Given the description of an element on the screen output the (x, y) to click on. 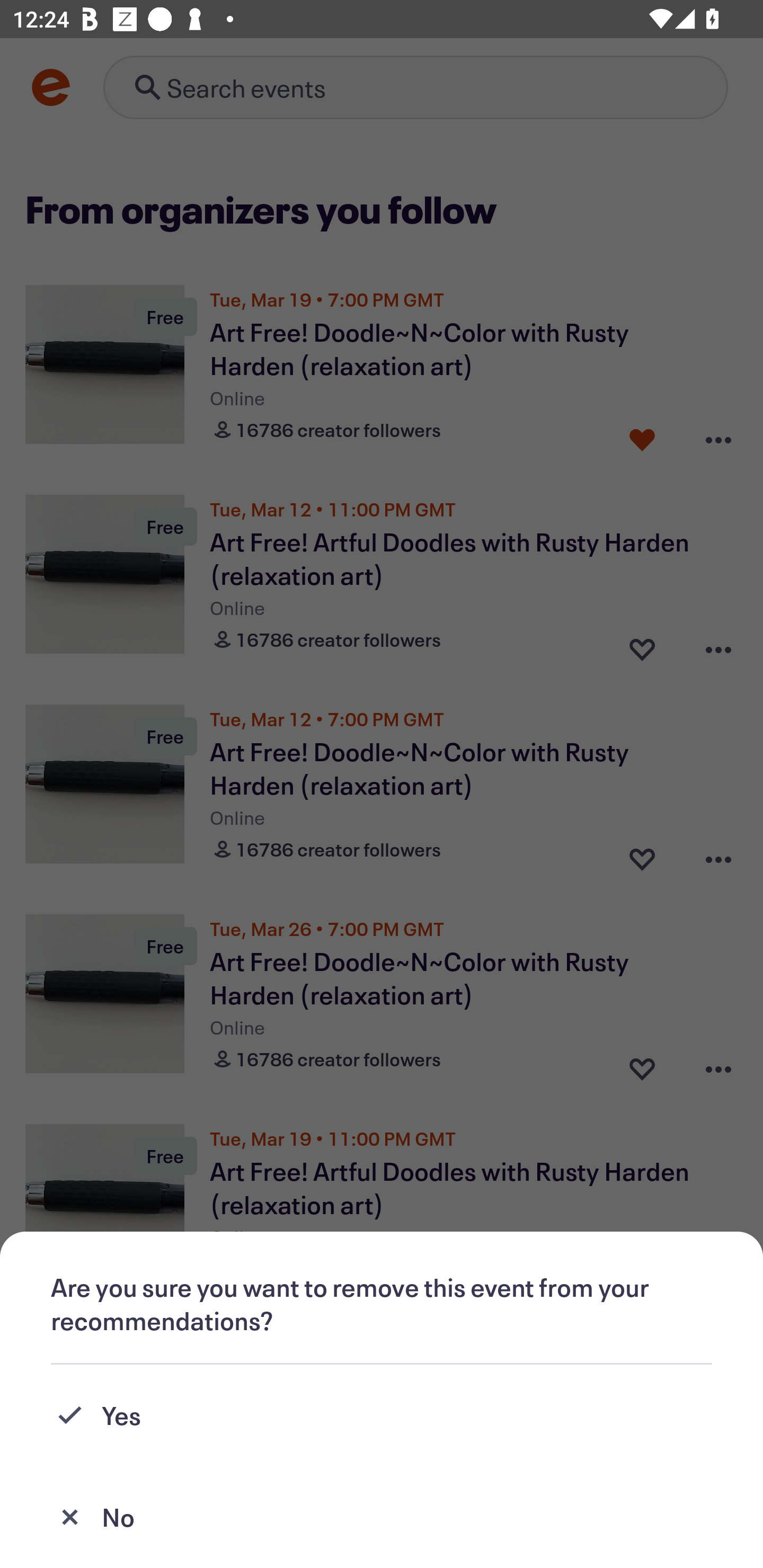
Yes (381, 1415)
No (381, 1517)
